Given the description of an element on the screen output the (x, y) to click on. 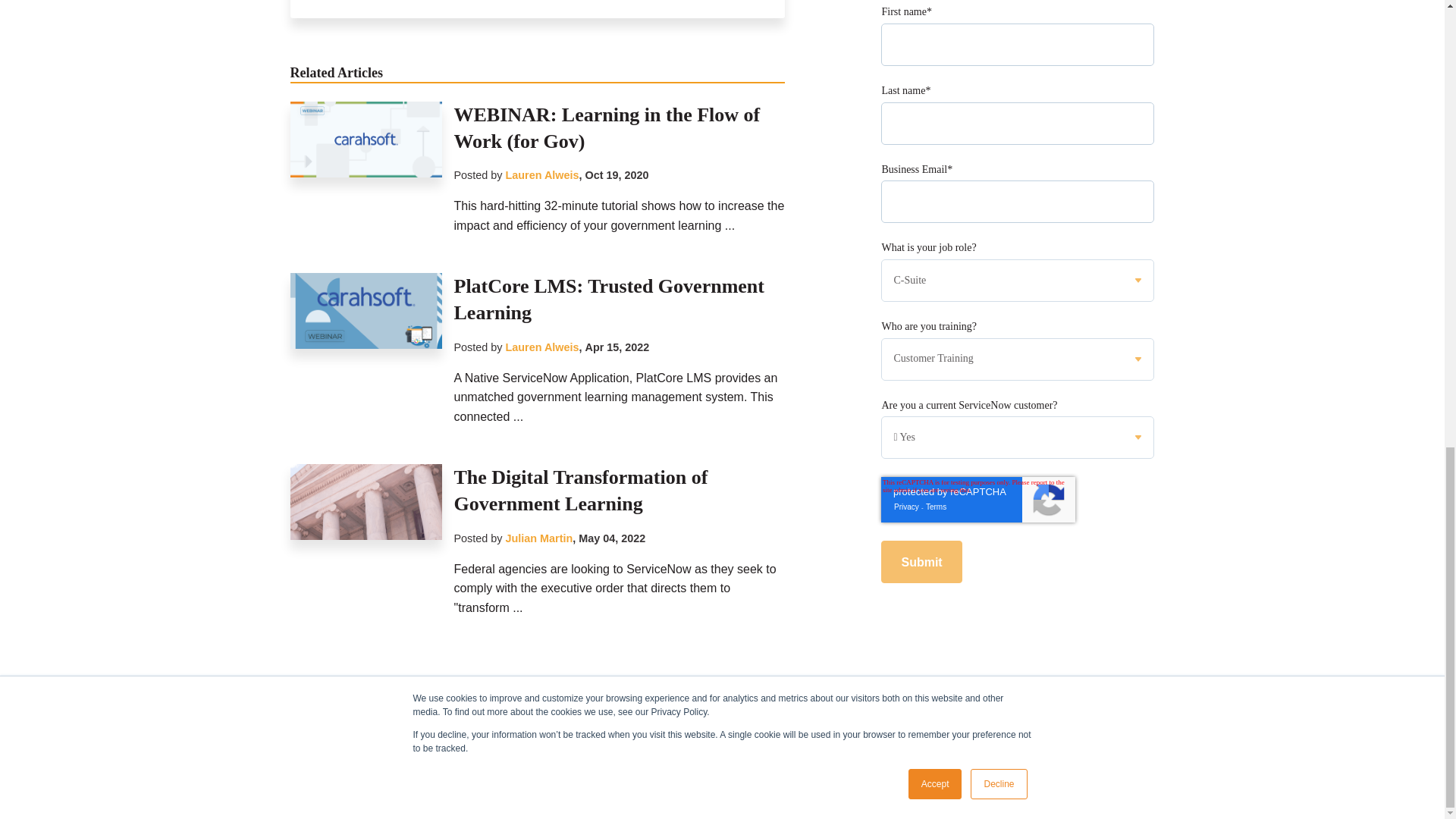
Submit (920, 189)
reCAPTCHA (977, 126)
